Given the description of an element on the screen output the (x, y) to click on. 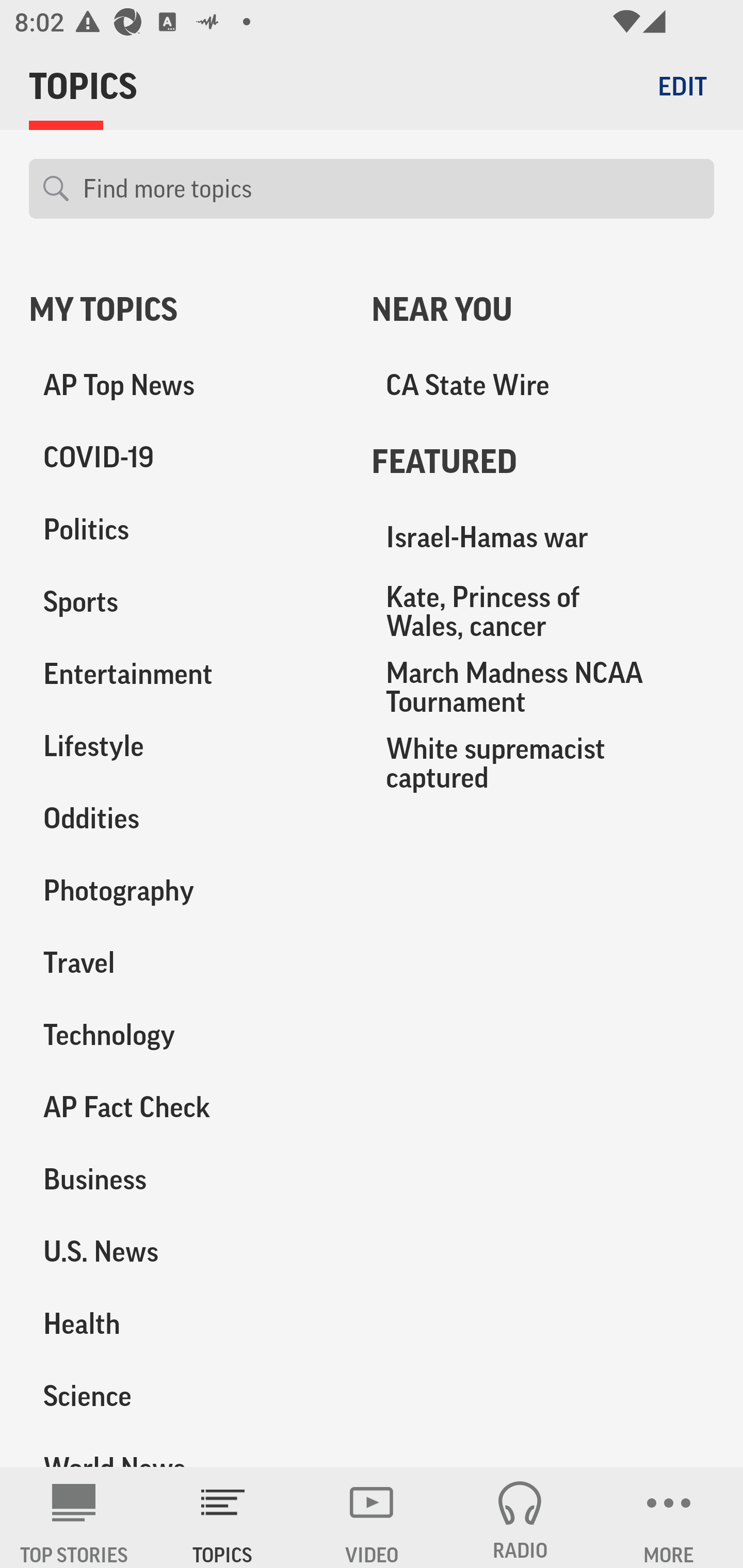
EDIT (682, 86)
Find more topics (391, 188)
AP Top News (185, 385)
CA State Wire (542, 385)
COVID-19 (185, 457)
Politics (185, 529)
Israel-Hamas war (542, 537)
Sports (185, 602)
Kate, Princess of Wales, cancer (542, 611)
Entertainment (185, 674)
March Madness NCAA Tournament (542, 686)
Lifestyle (185, 746)
White supremacist captured (542, 762)
Oddities (185, 818)
Photography (185, 890)
Travel (185, 962)
Technology (185, 1034)
AP Fact Check (185, 1106)
Business (185, 1179)
U.S. News (185, 1251)
Health (185, 1323)
Science (185, 1395)
AP News TOP STORIES (74, 1517)
TOPICS (222, 1517)
VIDEO (371, 1517)
RADIO (519, 1517)
MORE (668, 1517)
